Given the description of an element on the screen output the (x, y) to click on. 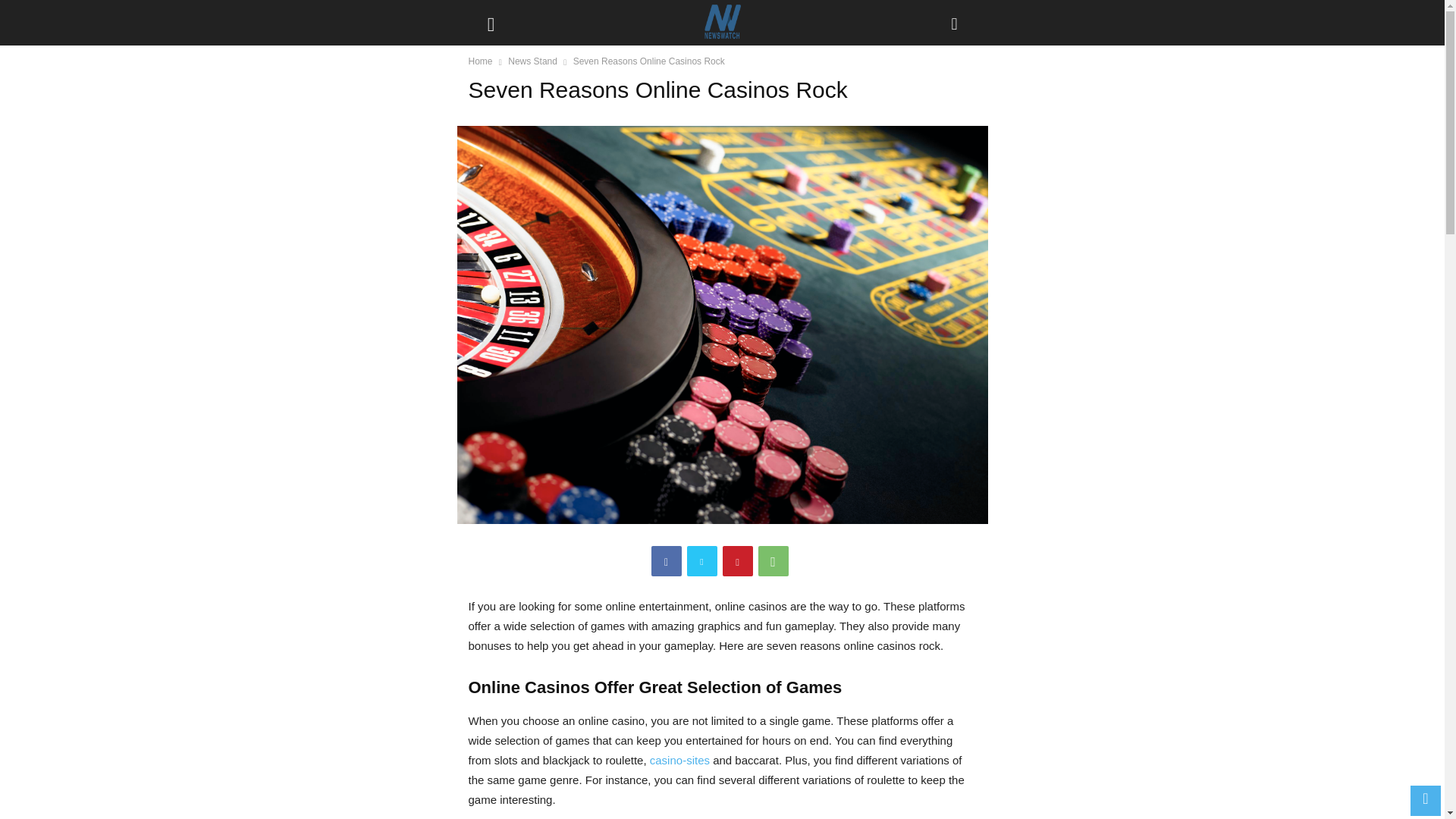
News Stand (532, 61)
NewsWatch (721, 22)
View all posts in News Stand (532, 61)
Pinterest (737, 561)
Home (480, 61)
Twitter (702, 561)
WhatsApp (773, 561)
casino-sites (679, 759)
NewsWatch (722, 22)
Facebook (665, 561)
